Given the description of an element on the screen output the (x, y) to click on. 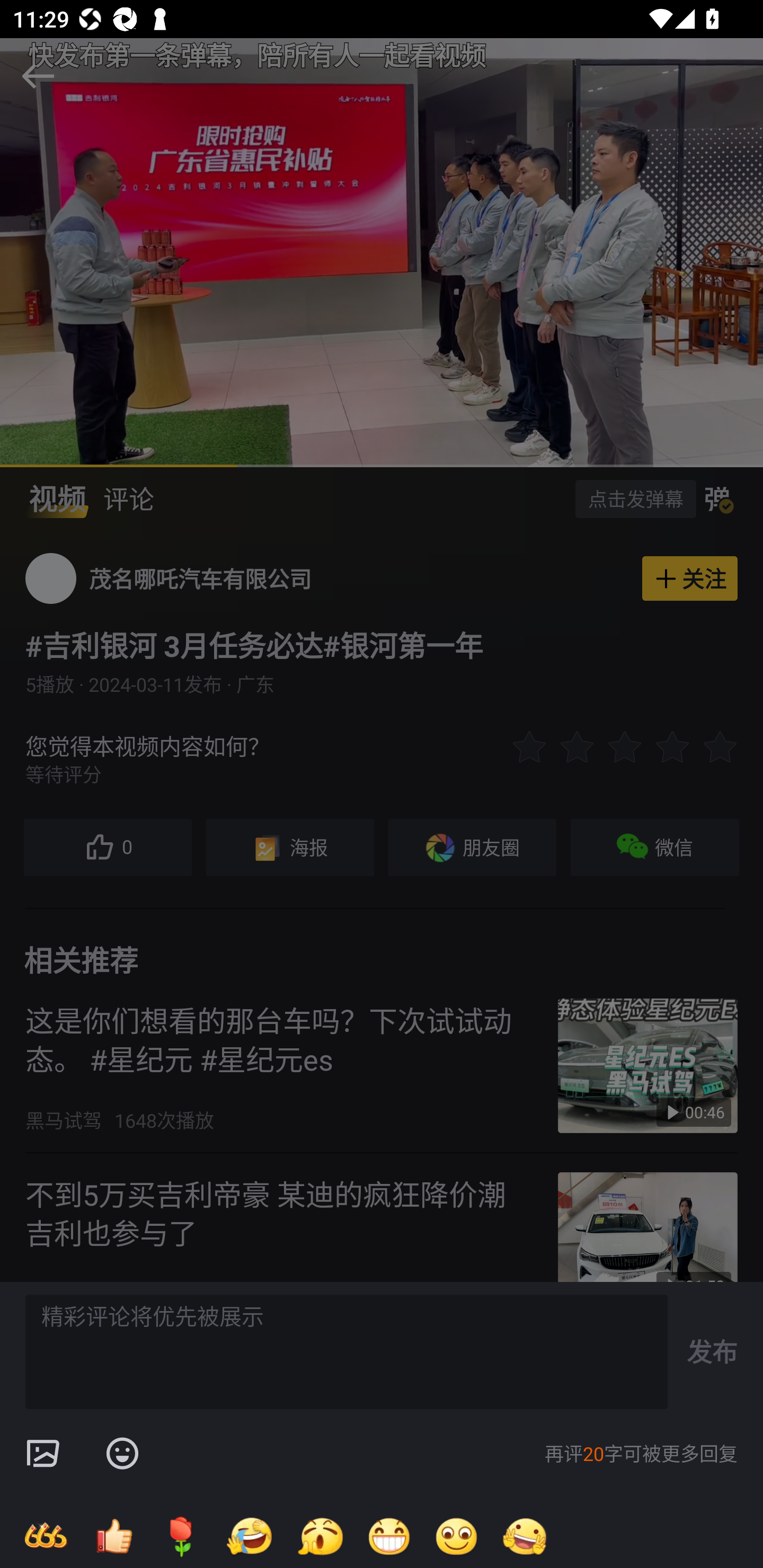
精彩评论将优先被展示 (346, 1352)
发布 (711, 1351)
 (42, 1453)
 (122, 1453)
再评20字可被更多回复 (640, 1453)
[666] (45, 1535)
[赞] (112, 1535)
[玫瑰] (180, 1535)
[我想静静] (249, 1535)
[小鼓掌] (320, 1535)
[呲牙] (389, 1535)
[微笑] (456, 1535)
[耶] (524, 1535)
